Given the description of an element on the screen output the (x, y) to click on. 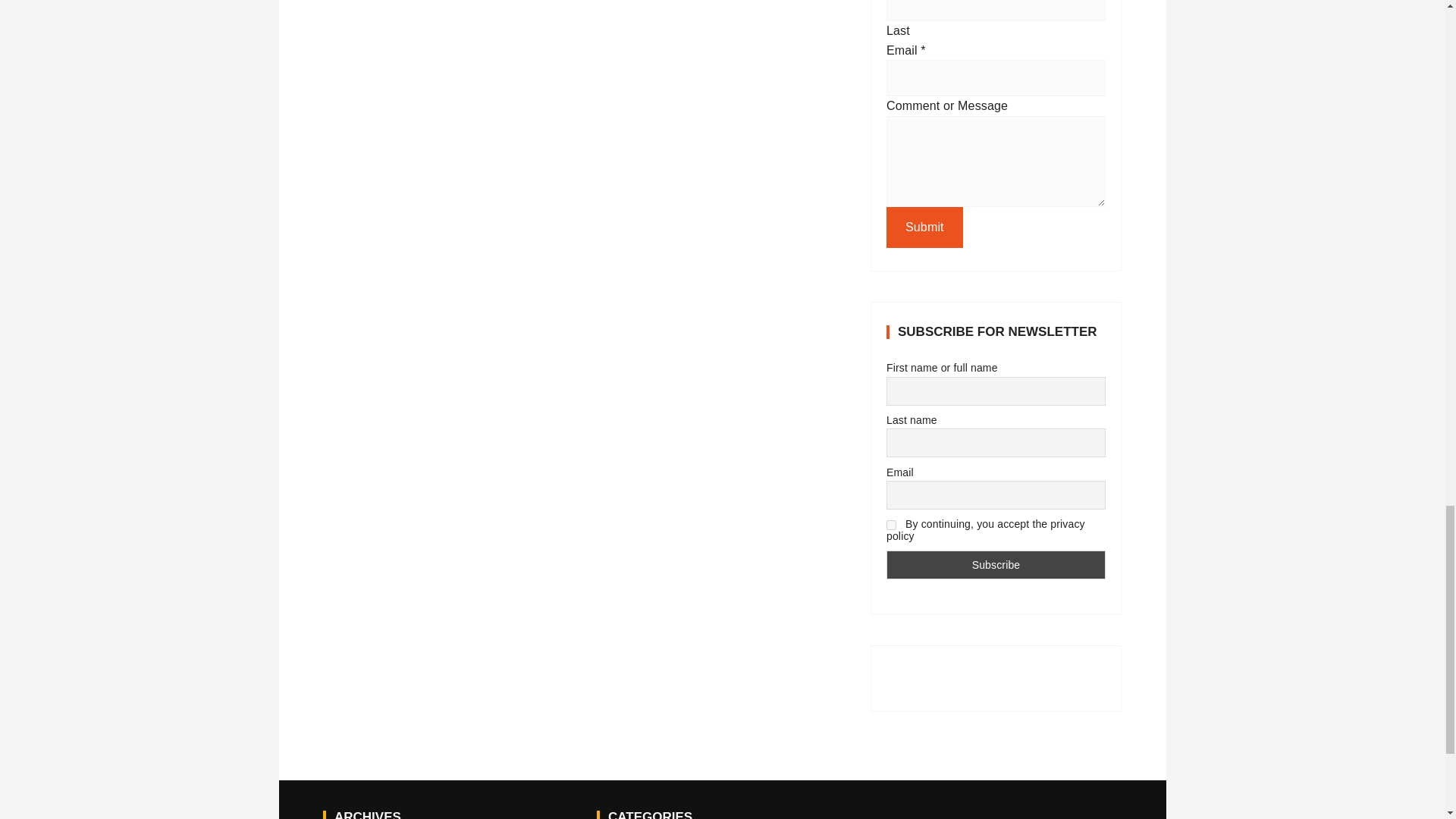
Subscribe (995, 564)
on (891, 524)
